Given the description of an element on the screen output the (x, y) to click on. 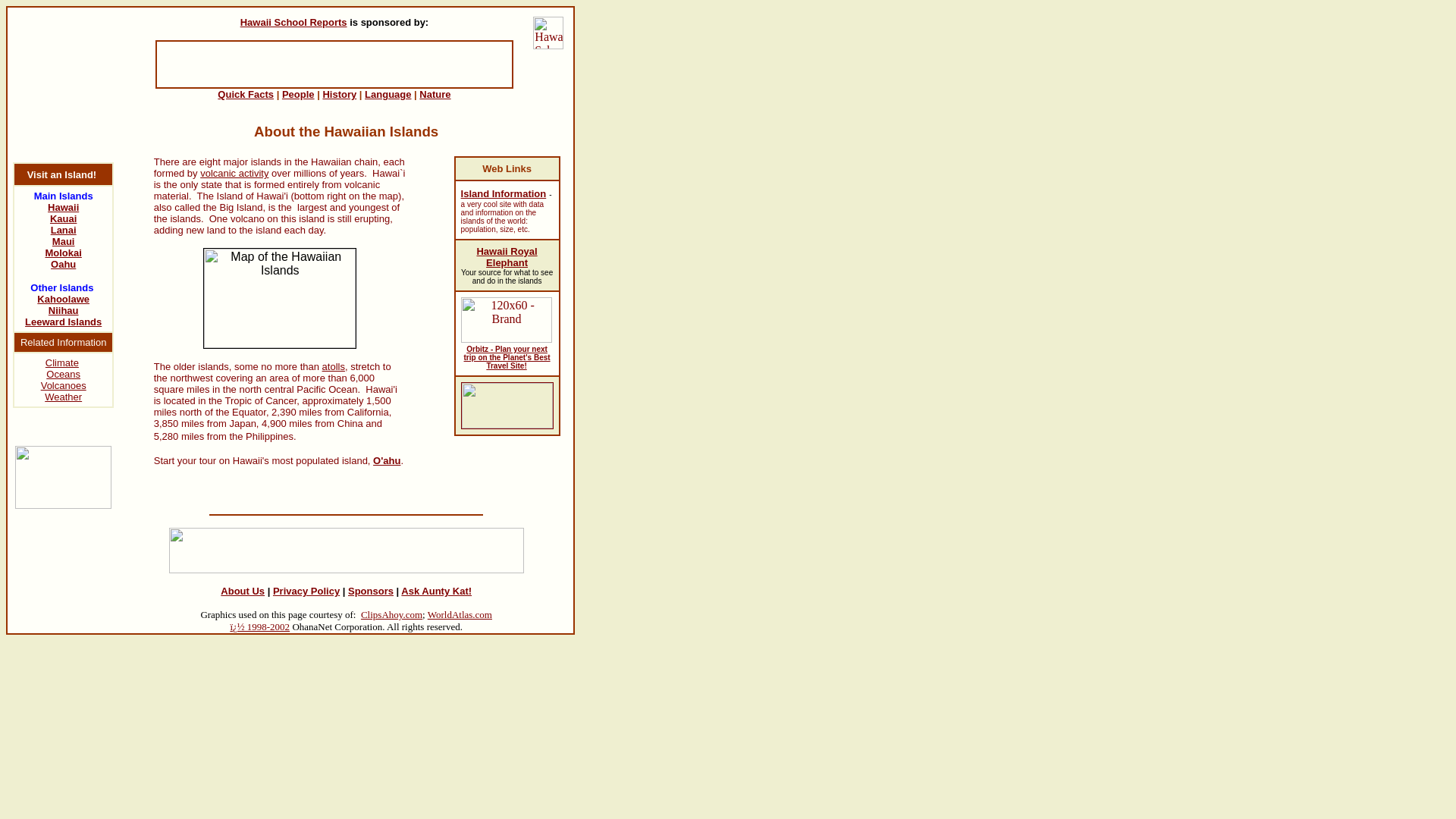
People (298, 93)
Oahu (62, 264)
WorldAtlas.com (460, 614)
Lanai (63, 229)
Privacy Policy (306, 591)
atolls (333, 366)
Hawaii Royal Elephant (506, 256)
Niihau (63, 310)
ClipsAhoy.com (391, 614)
Kauai (63, 218)
Language (387, 93)
Maui (63, 241)
Hawaii School Reports (293, 21)
O'ahu (386, 460)
Kahoolawe (62, 298)
